Given the description of an element on the screen output the (x, y) to click on. 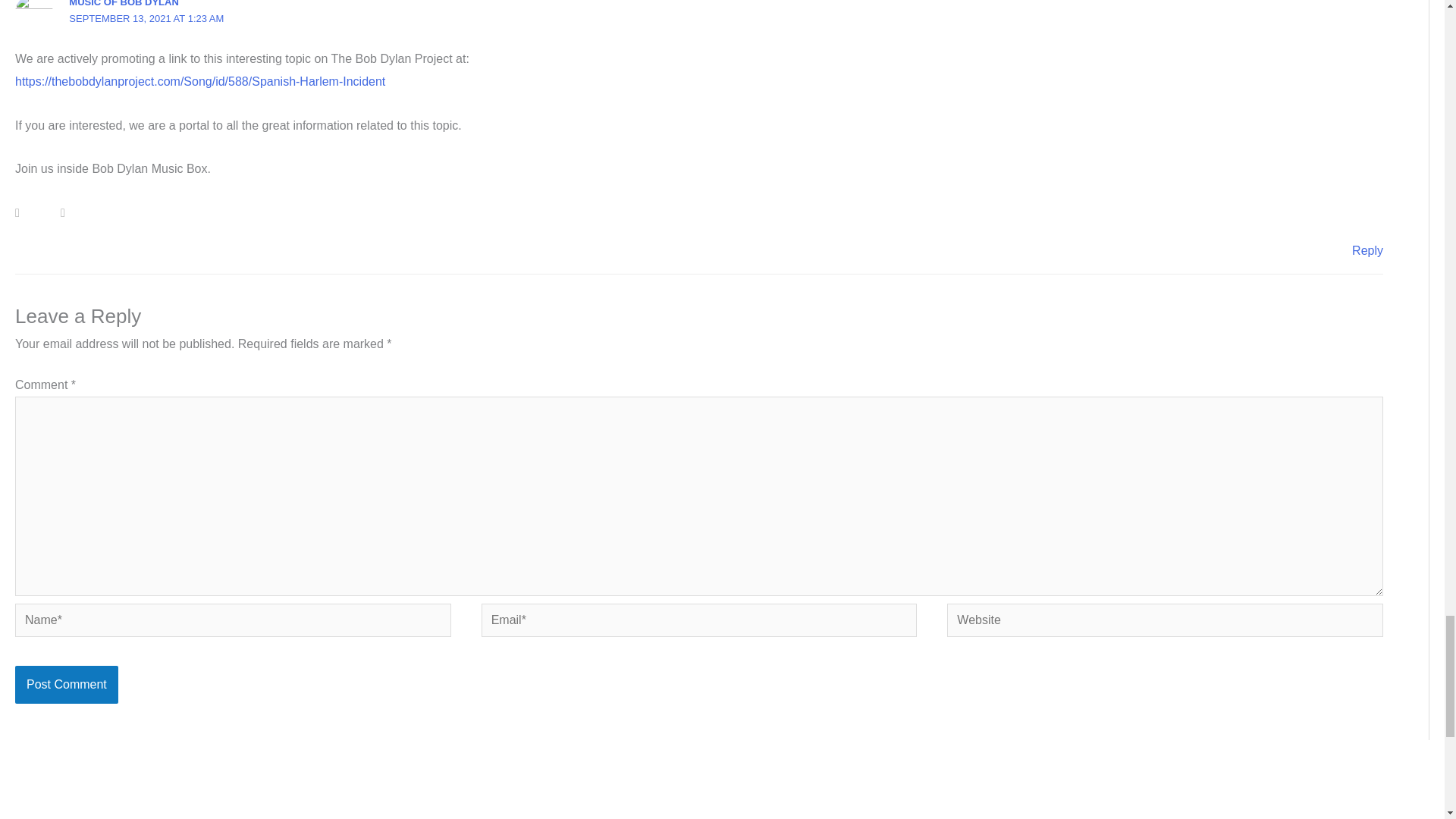
MUSIC OF BOB DYLAN (122, 3)
Post Comment (65, 684)
SEPTEMBER 13, 2021 AT 1:23 AM (146, 18)
Post Comment (65, 684)
Reply (1367, 250)
